Given the description of an element on the screen output the (x, y) to click on. 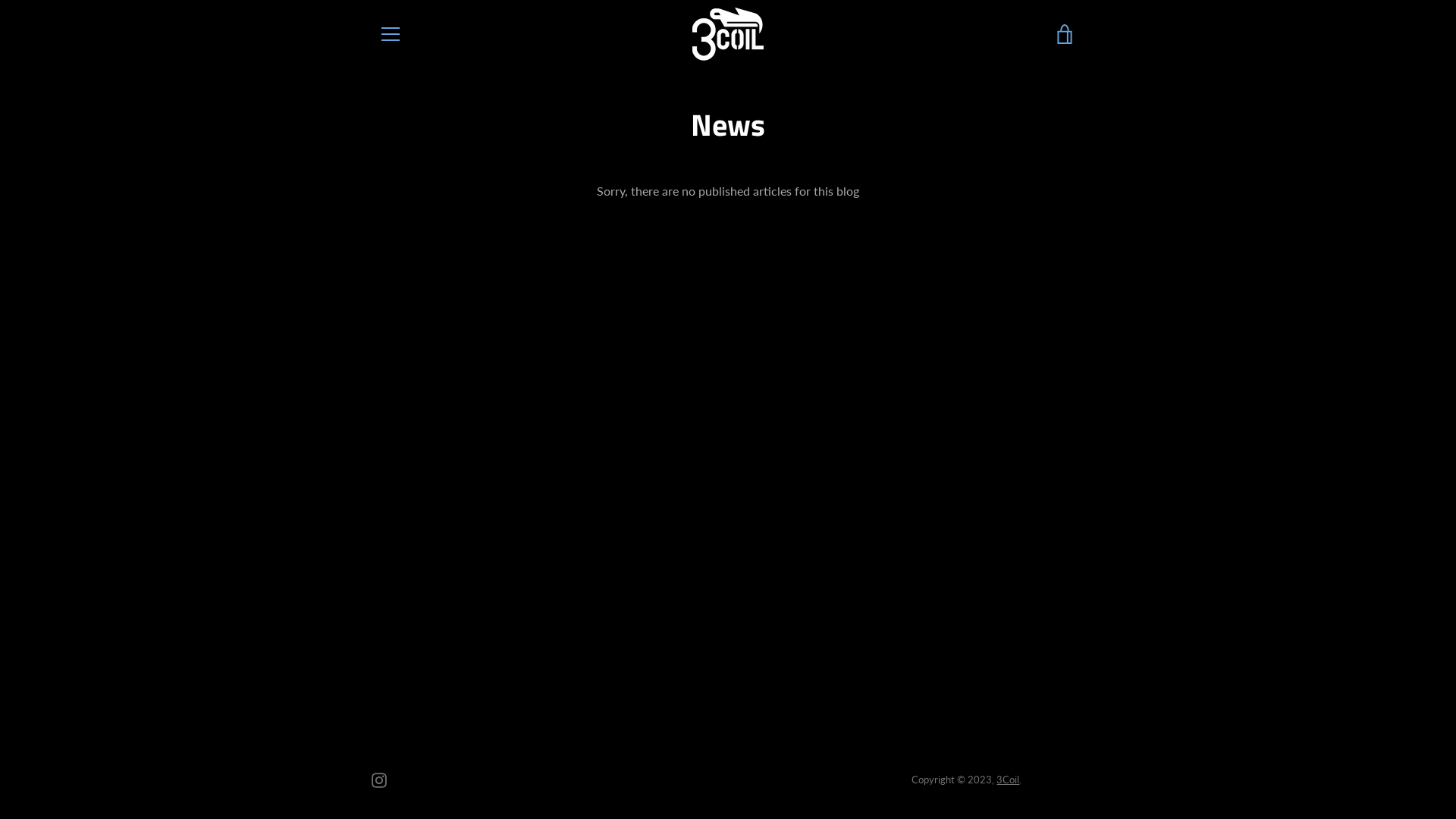
Skip to content Element type: text (0, 0)
3Coil Element type: text (1007, 779)
Instagram Element type: text (378, 778)
VIEW CART Element type: text (1065, 34)
MENU Element type: text (390, 34)
